Given the description of an element on the screen output the (x, y) to click on. 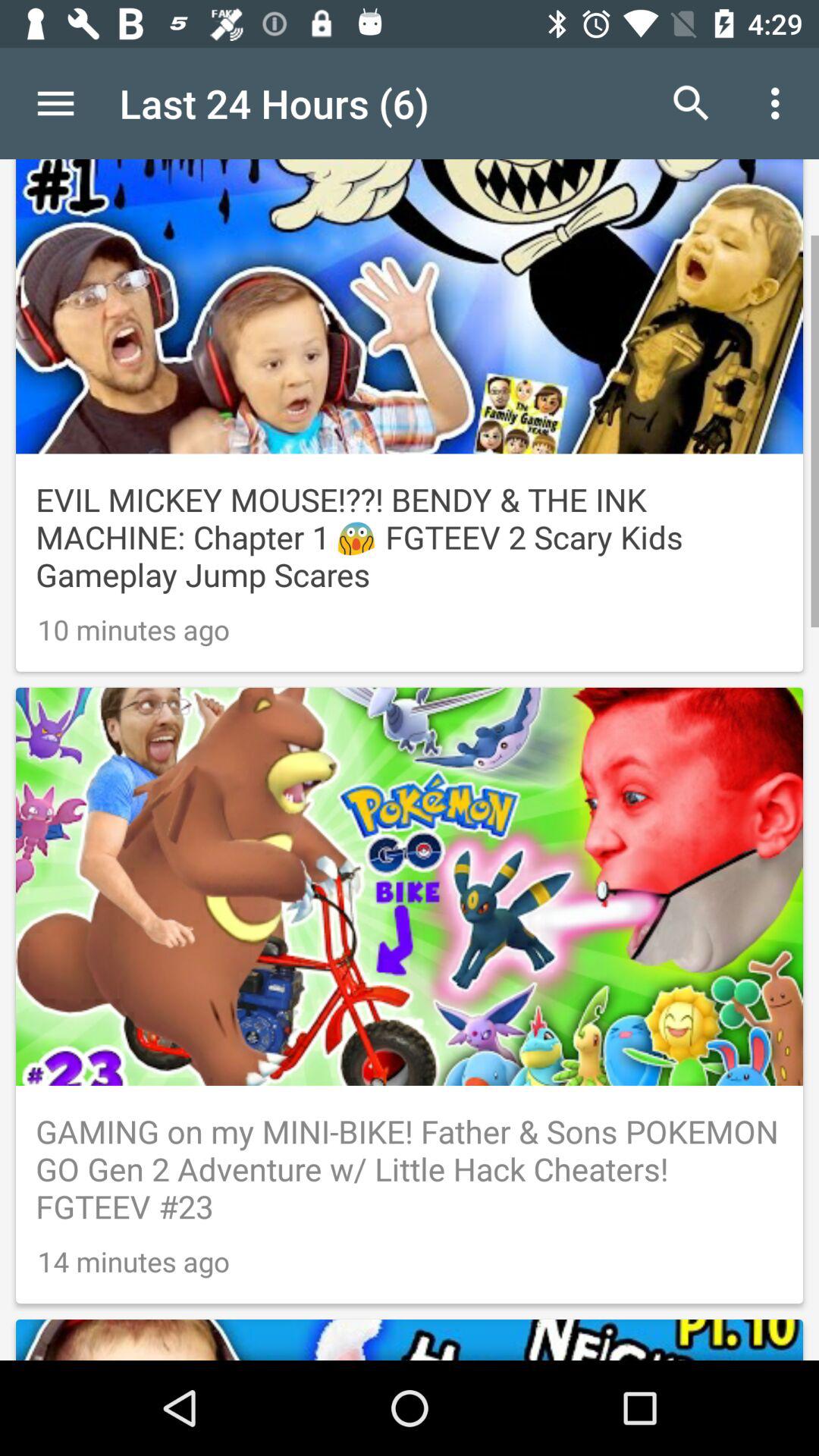
advertisement (409, 1310)
